Given the description of an element on the screen output the (x, y) to click on. 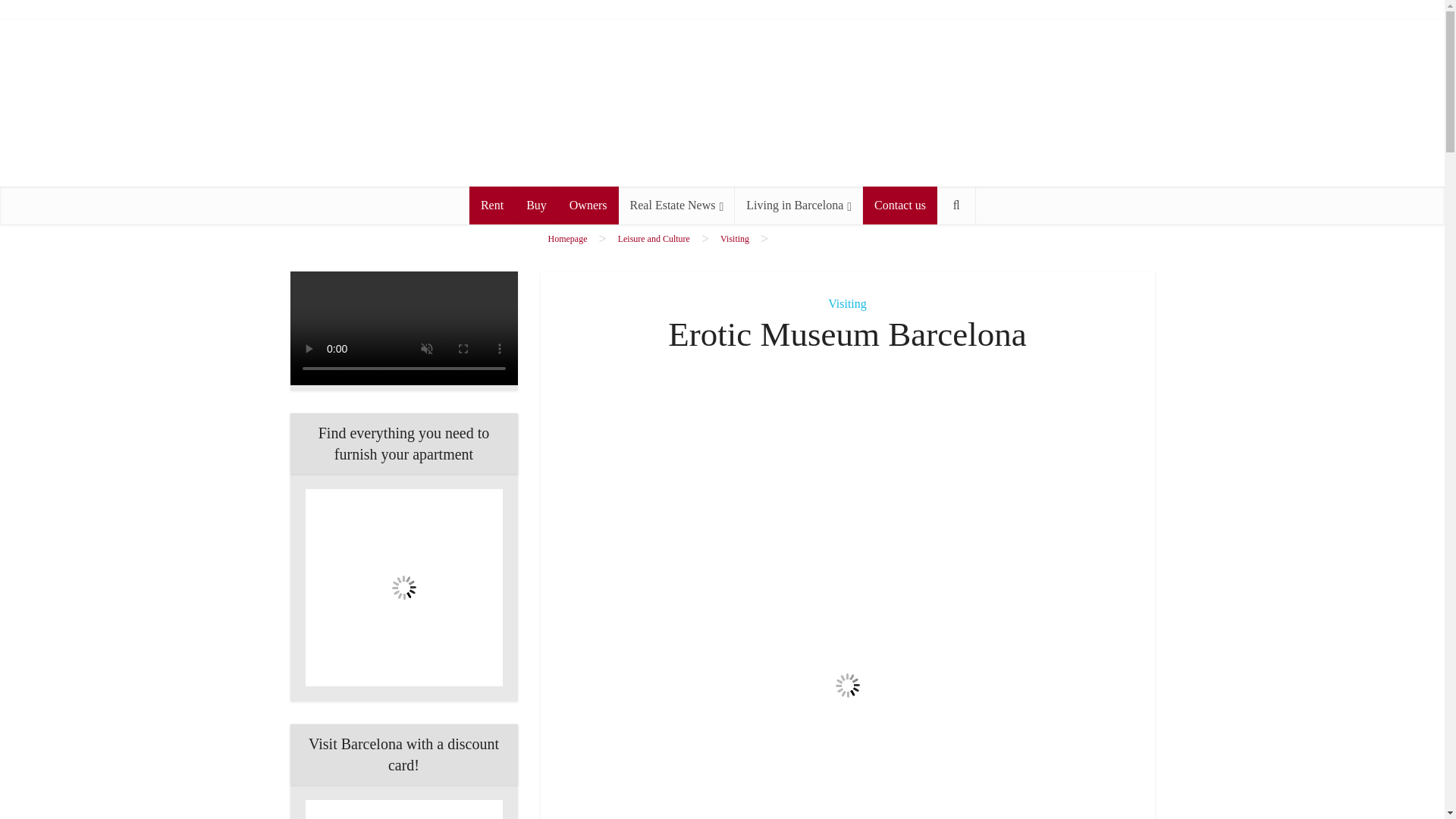
Barcelona City Pass (403, 809)
Visiting (734, 238)
Leisure and Culture (653, 238)
Real Estate News (676, 205)
Owners (587, 205)
Living in Barcelona (799, 205)
Homepage (566, 238)
Buy (536, 205)
Contact us (900, 205)
Homepage (566, 238)
